Given the description of an element on the screen output the (x, y) to click on. 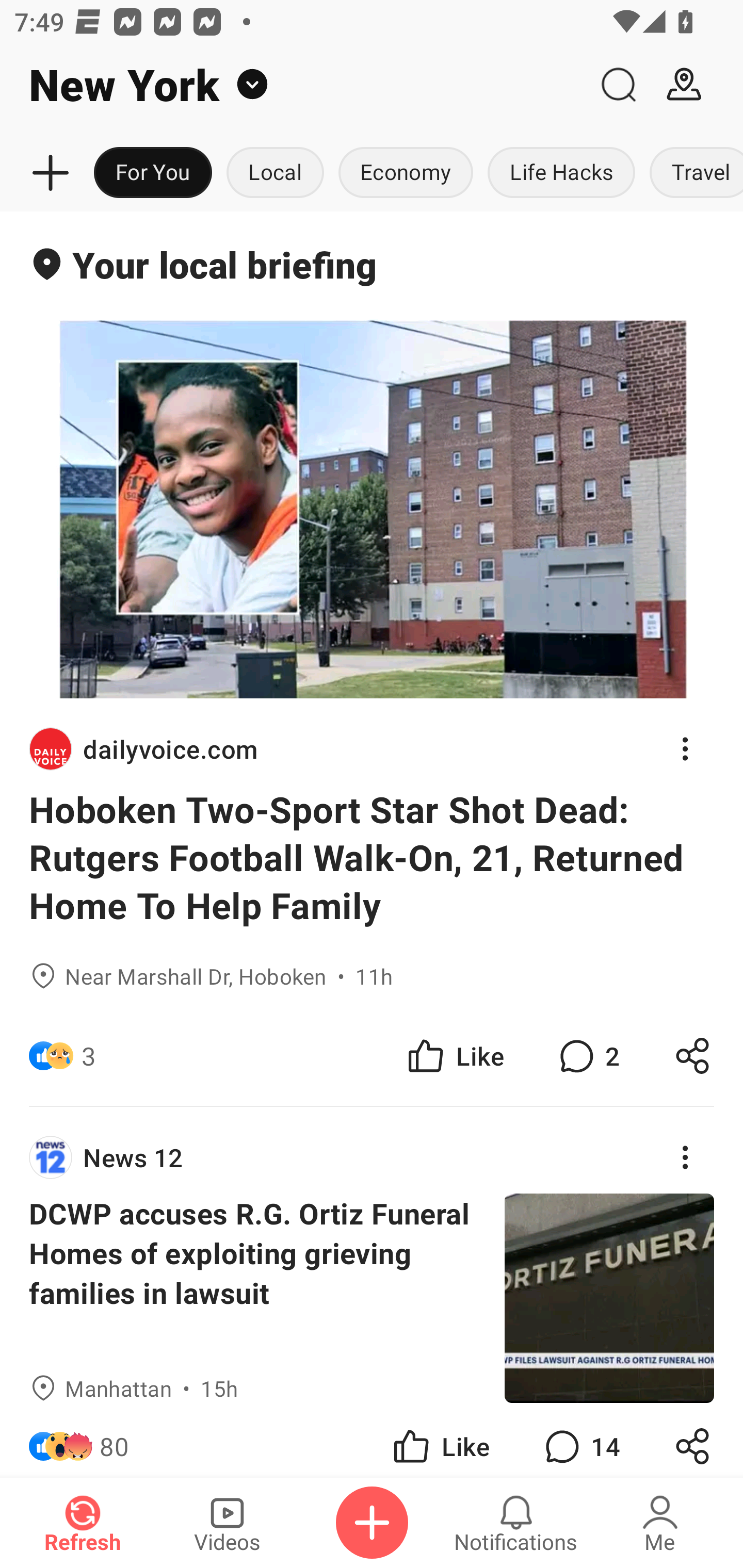
New York (292, 84)
For You (152, 172)
Local (275, 172)
Economy (405, 172)
Life Hacks (561, 172)
Travel (692, 172)
3 (88, 1055)
Like (454, 1055)
2 (587, 1055)
80 (114, 1440)
Like (439, 1440)
14 (579, 1440)
Videos (227, 1522)
Notifications (516, 1522)
Me (659, 1522)
